Given the description of an element on the screen output the (x, y) to click on. 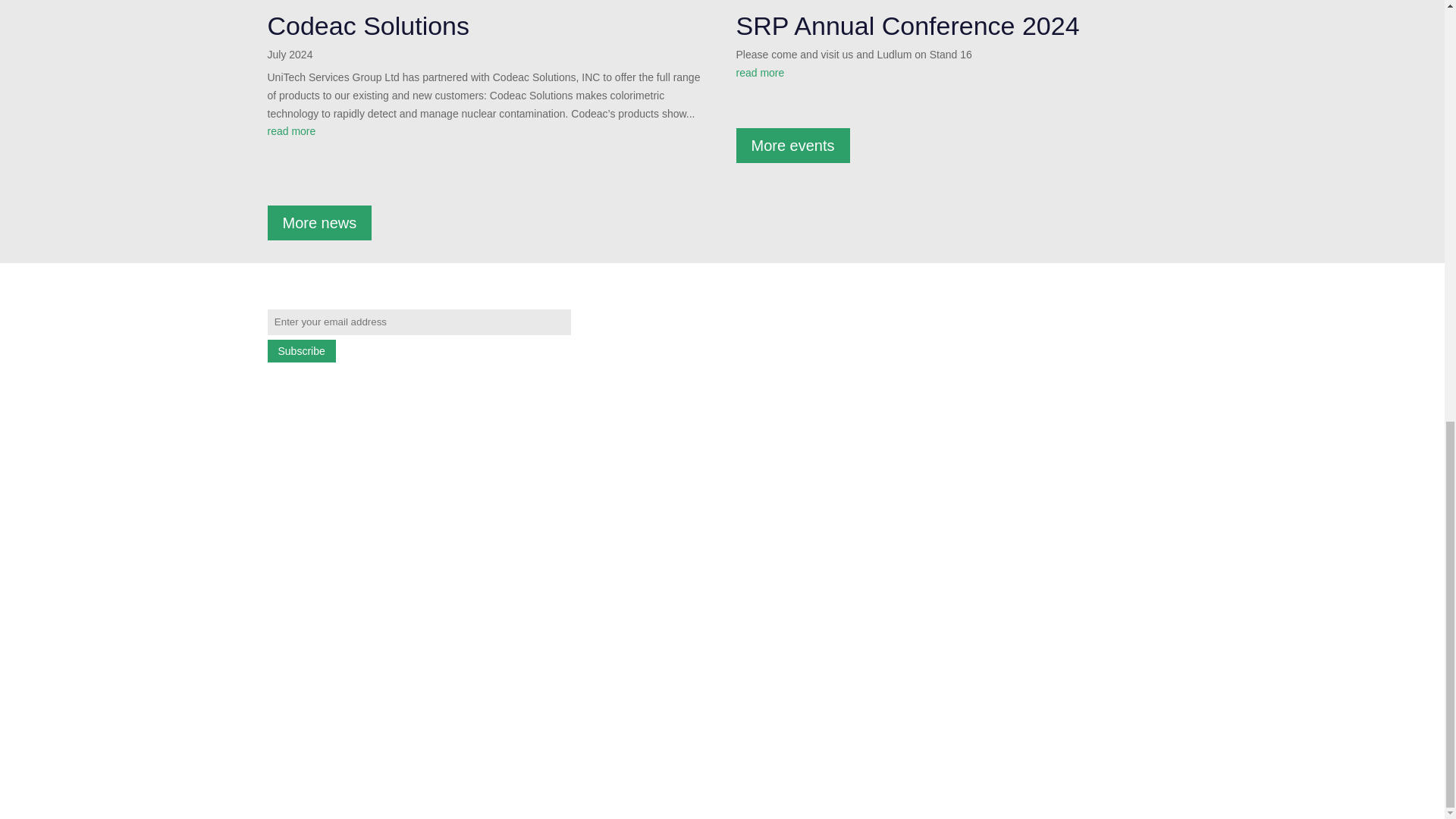
Subscribe (300, 350)
